Given the description of an element on the screen output the (x, y) to click on. 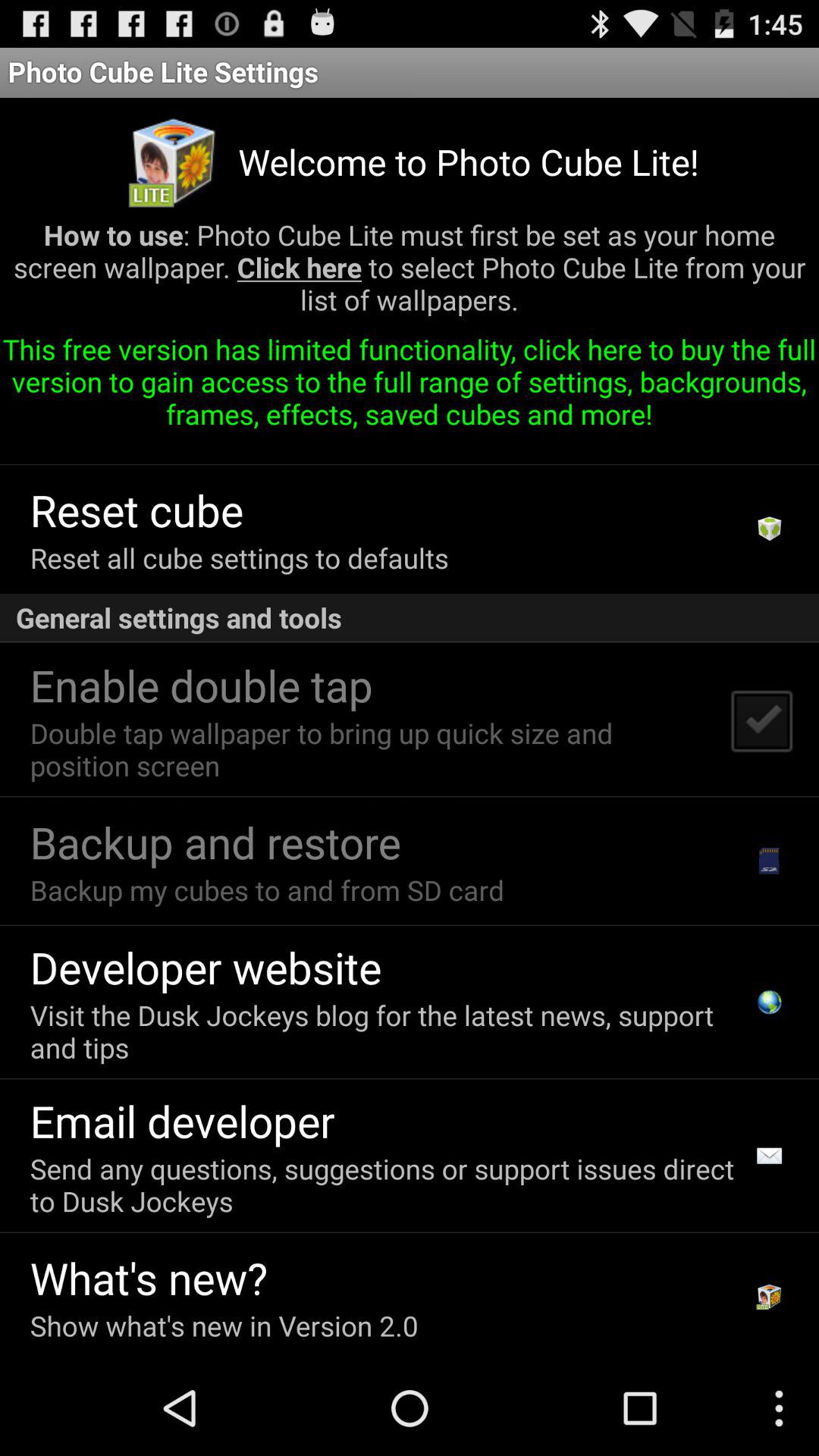
select icon below welcome to photo app (409, 273)
